Given the description of an element on the screen output the (x, y) to click on. 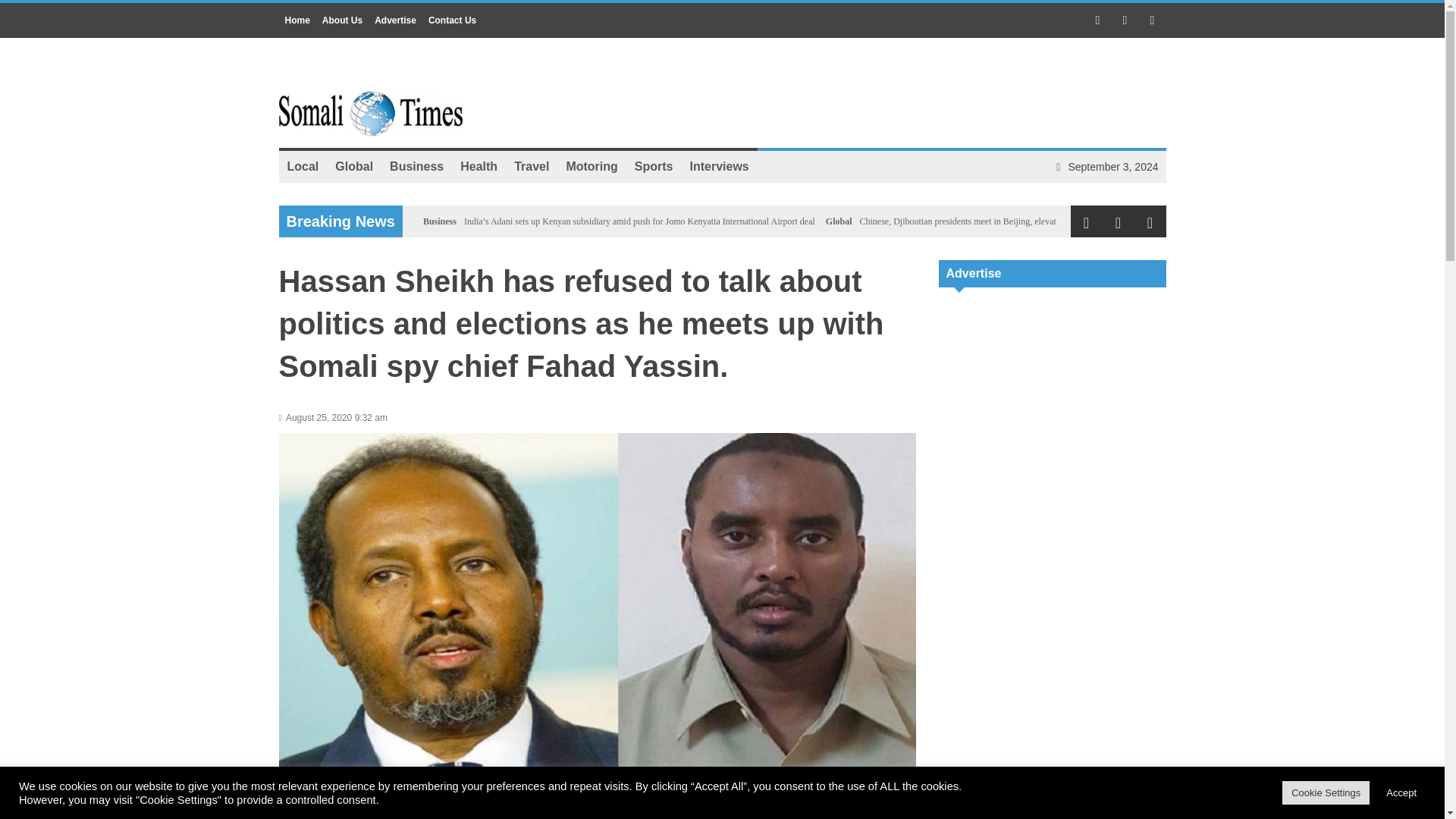
Local (303, 166)
Global (353, 166)
Advertisement (1052, 397)
Sports (653, 166)
Contact Us (451, 20)
Home (297, 20)
About Us (341, 20)
Travel (531, 166)
Advertisement (1052, 787)
Business (440, 221)
